Given the description of an element on the screen output the (x, y) to click on. 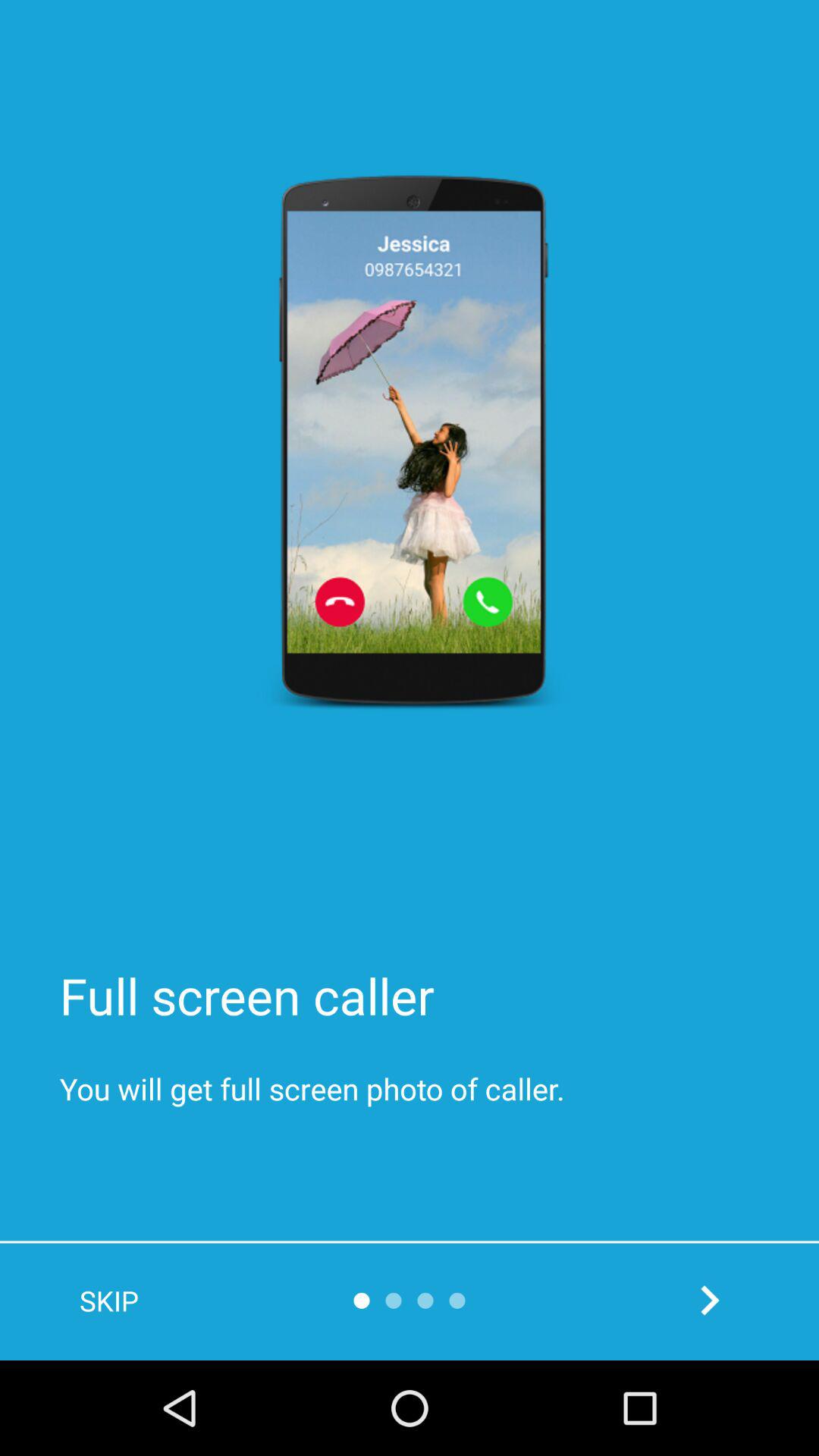
continue (709, 1300)
